Given the description of an element on the screen output the (x, y) to click on. 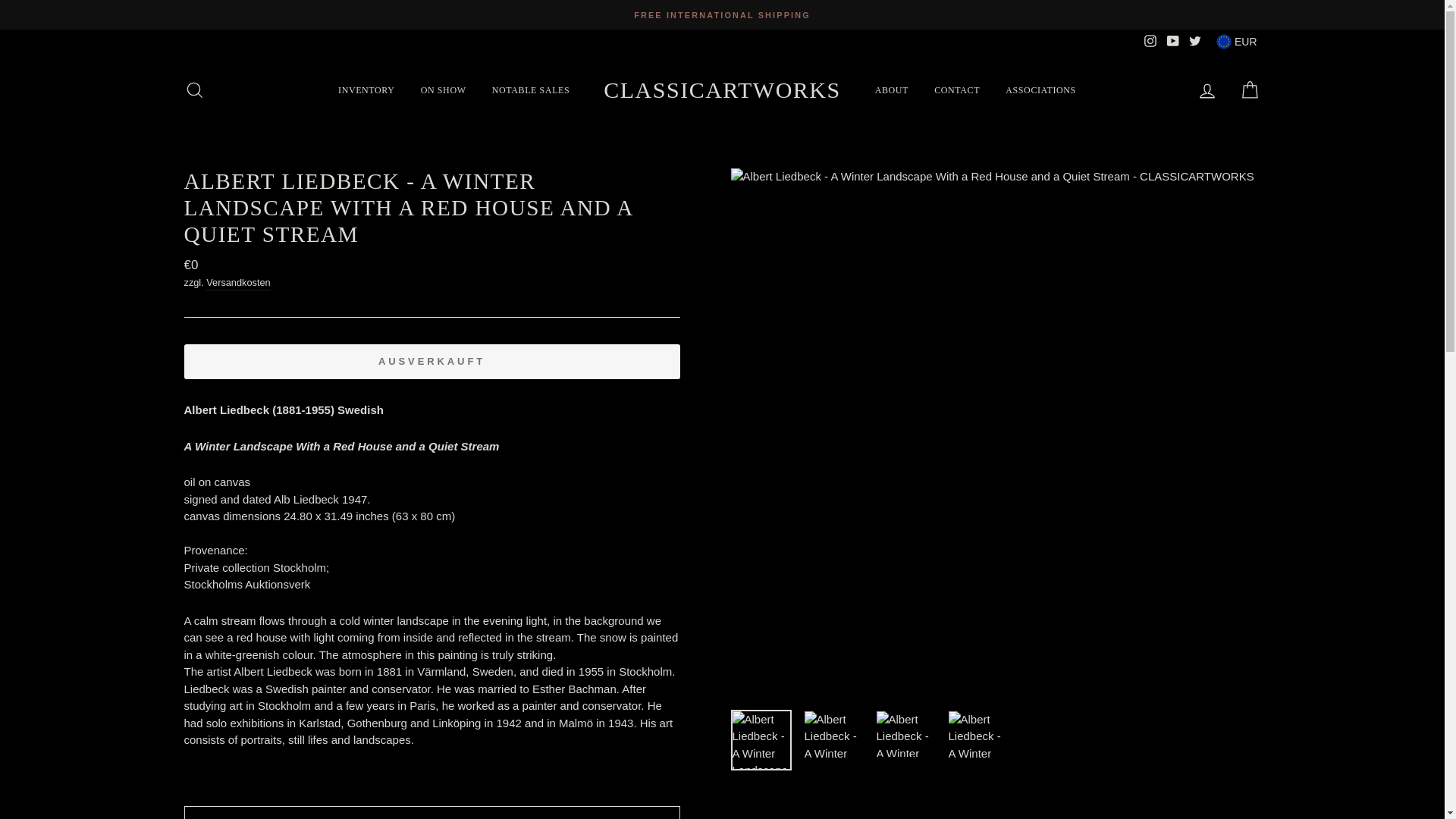
ASSOCIATIONS (1040, 89)
NOTABLE SALES (530, 89)
SUCHE (194, 89)
FREE INTERNATIONAL SHIPPING (722, 14)
EINLOGGEN (1207, 89)
CONTACT (957, 89)
Instagram (1150, 41)
Twitter (1195, 41)
ABOUT (891, 89)
AUSVERKAUFT (431, 361)
CLASSICARTWORKS auf YouTube (1172, 41)
CLASSICARTWORKS auf Instagram (1150, 41)
ON SHOW (443, 89)
CLASSICARTWORKS auf Twitter (1195, 41)
